Given the description of an element on the screen output the (x, y) to click on. 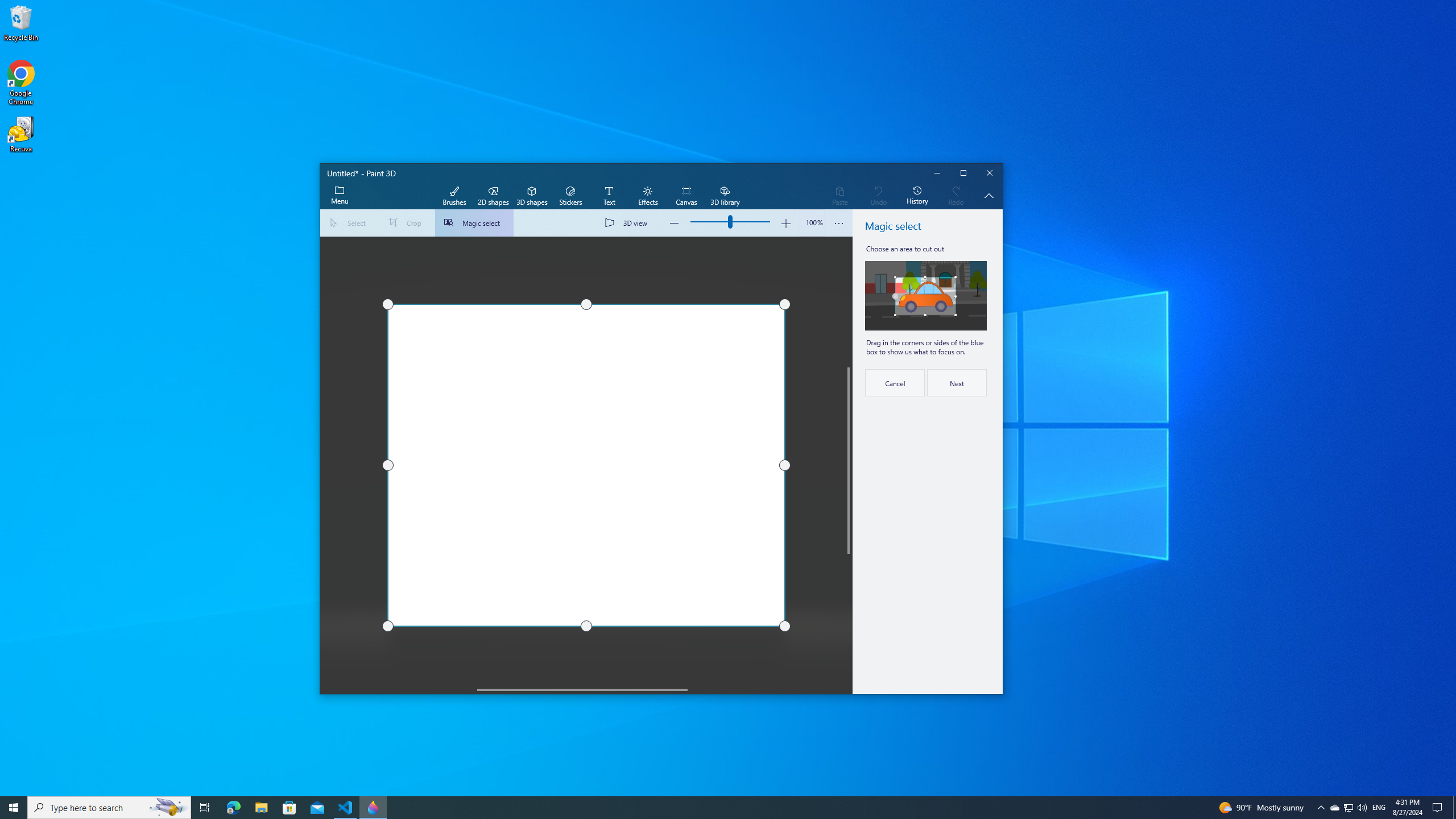
Horizontal Large Decrease (398, 689)
Horizontal Large Increase (765, 689)
Paste (840, 195)
Zoom out (674, 222)
Zoom slider (812, 222)
Vertical Large Decrease (848, 301)
Zoom in (785, 222)
View more options (839, 222)
